Given the description of an element on the screen output the (x, y) to click on. 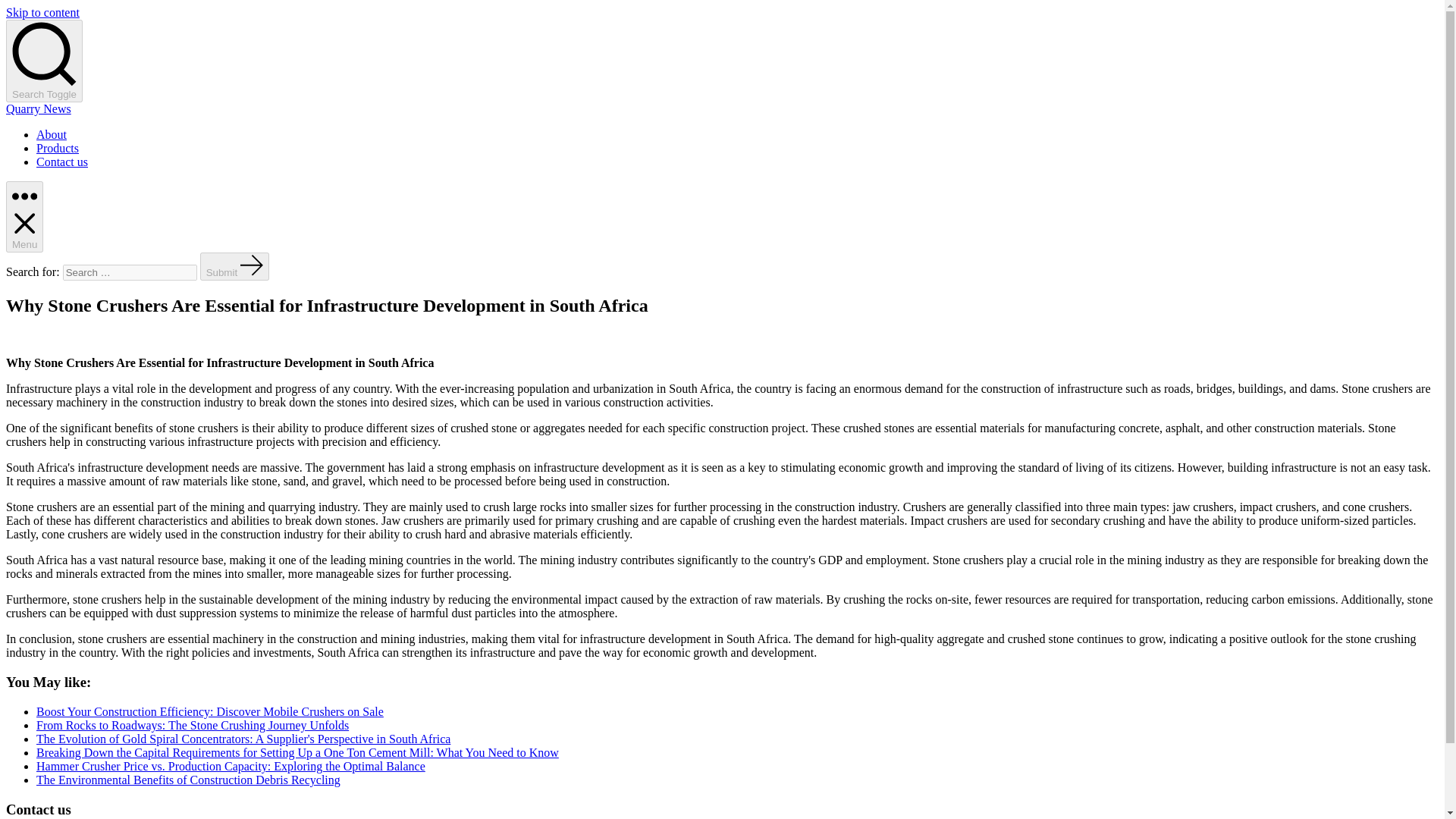
About (51, 133)
Products (57, 147)
Quarry News (38, 108)
Contact us (61, 161)
Submit (234, 266)
From Rocks to Roadways: The Stone Crushing Journey Unfolds (192, 725)
Search Toggle (43, 60)
The Environmental Benefits of Construction Debris Recycling (188, 779)
Skip to content (42, 11)
